Given the description of an element on the screen output the (x, y) to click on. 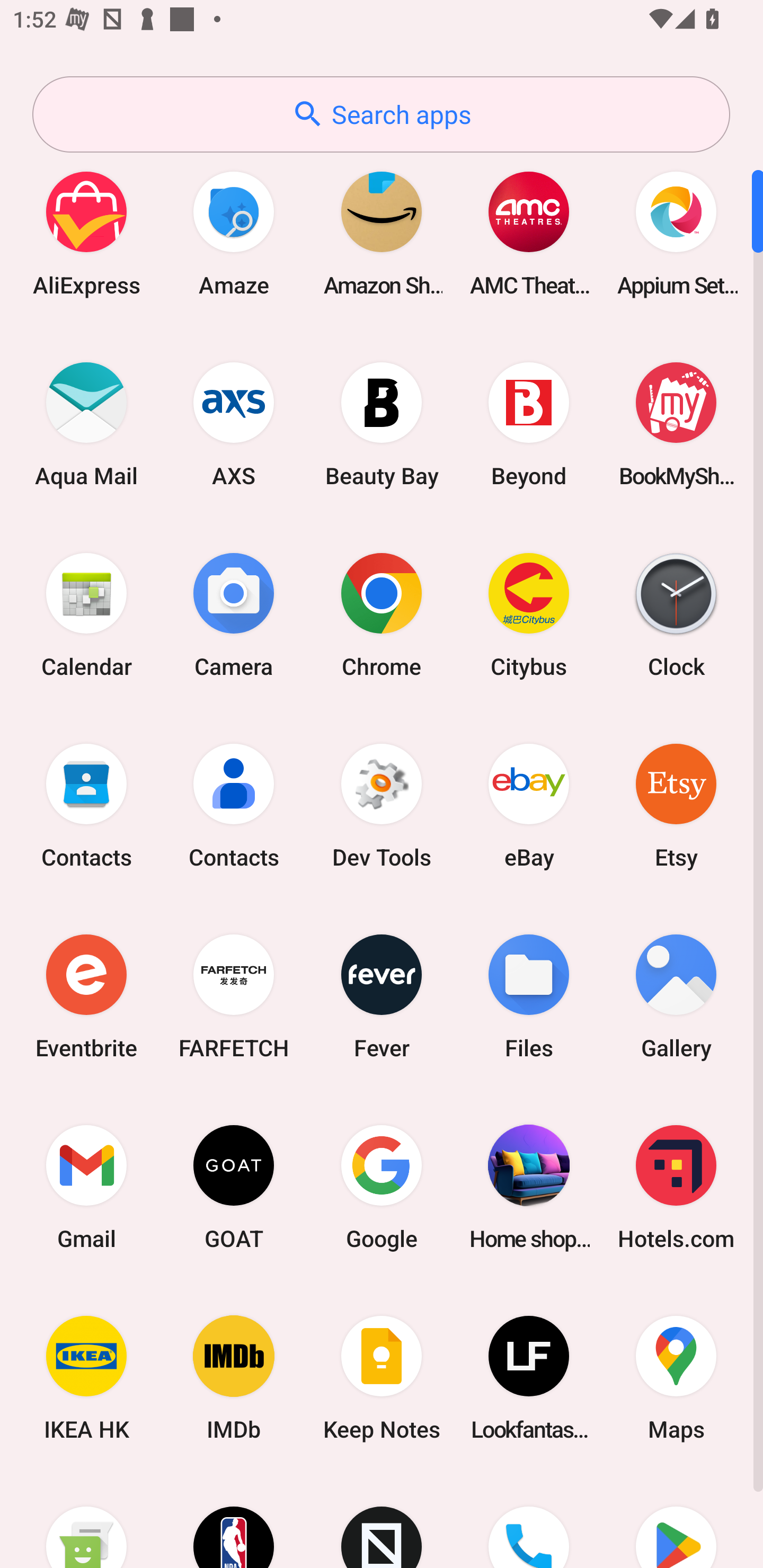
  Search apps (381, 114)
AliExpress (86, 233)
Amaze (233, 233)
Amazon Shopping (381, 233)
AMC Theatres (528, 233)
Appium Settings (676, 233)
Aqua Mail (86, 424)
AXS (233, 424)
Beauty Bay (381, 424)
Beyond (528, 424)
BookMyShow (676, 424)
Calendar (86, 614)
Camera (233, 614)
Chrome (381, 614)
Citybus (528, 614)
Clock (676, 614)
Contacts (86, 805)
Contacts (233, 805)
Dev Tools (381, 805)
eBay (528, 805)
Etsy (676, 805)
Eventbrite (86, 996)
FARFETCH (233, 996)
Fever (381, 996)
Files (528, 996)
Gallery (676, 996)
Gmail (86, 1186)
GOAT (233, 1186)
Google (381, 1186)
Home shopping (528, 1186)
Hotels.com (676, 1186)
IKEA HK (86, 1377)
IMDb (233, 1377)
Keep Notes (381, 1377)
Lookfantastic (528, 1377)
Maps (676, 1377)
Messaging (86, 1520)
NBA (233, 1520)
Novelship (381, 1520)
Phone (528, 1520)
Play Store (676, 1520)
